Given the description of an element on the screen output the (x, y) to click on. 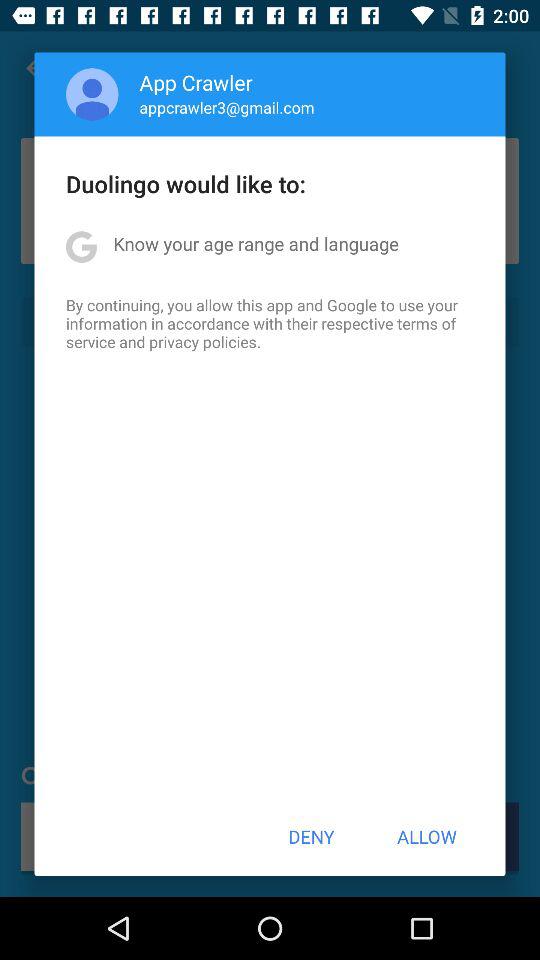
open icon above duolingo would like item (92, 94)
